Given the description of an element on the screen output the (x, y) to click on. 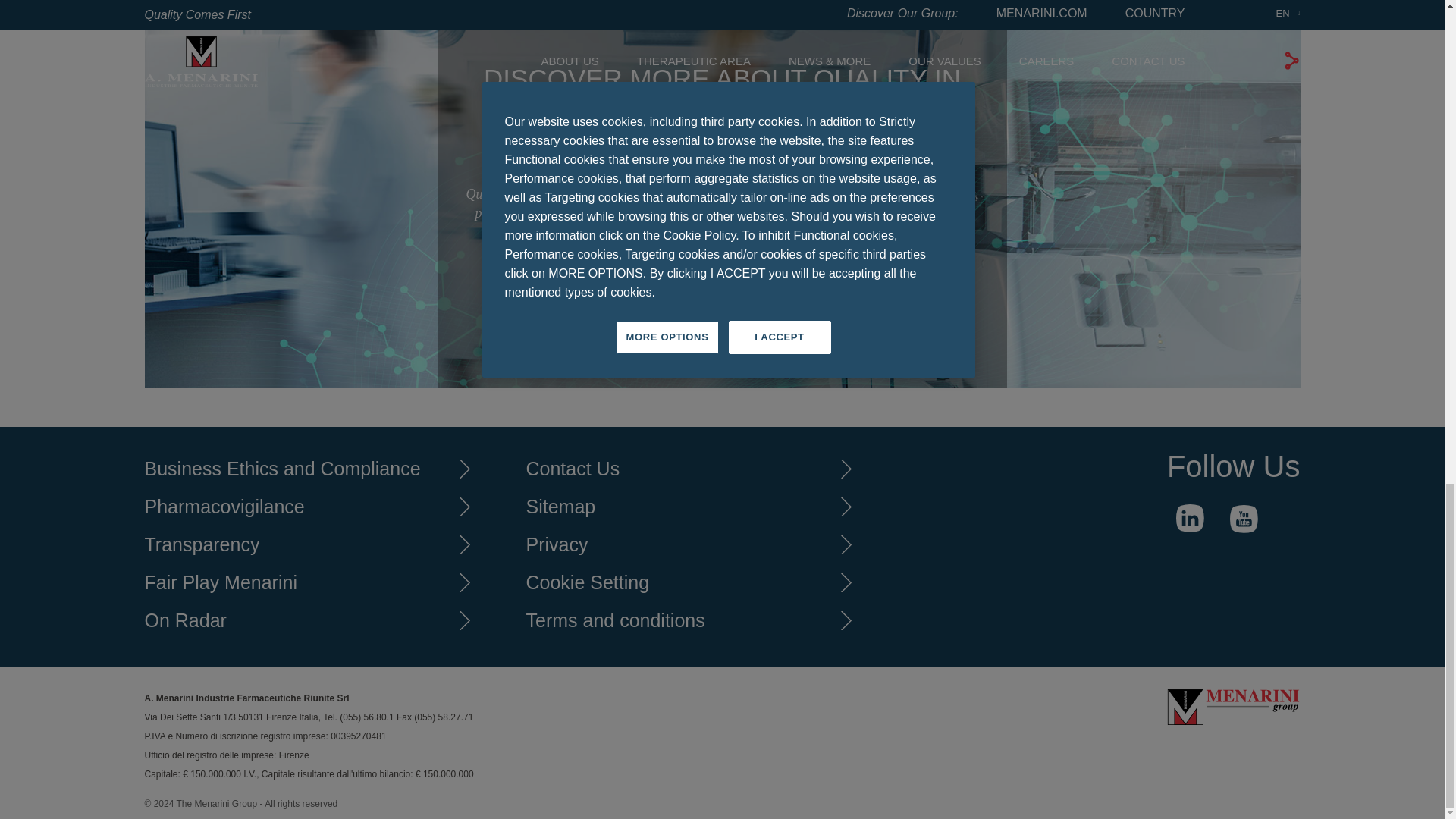
Menarini IFR (1233, 710)
